Given the description of an element on the screen output the (x, y) to click on. 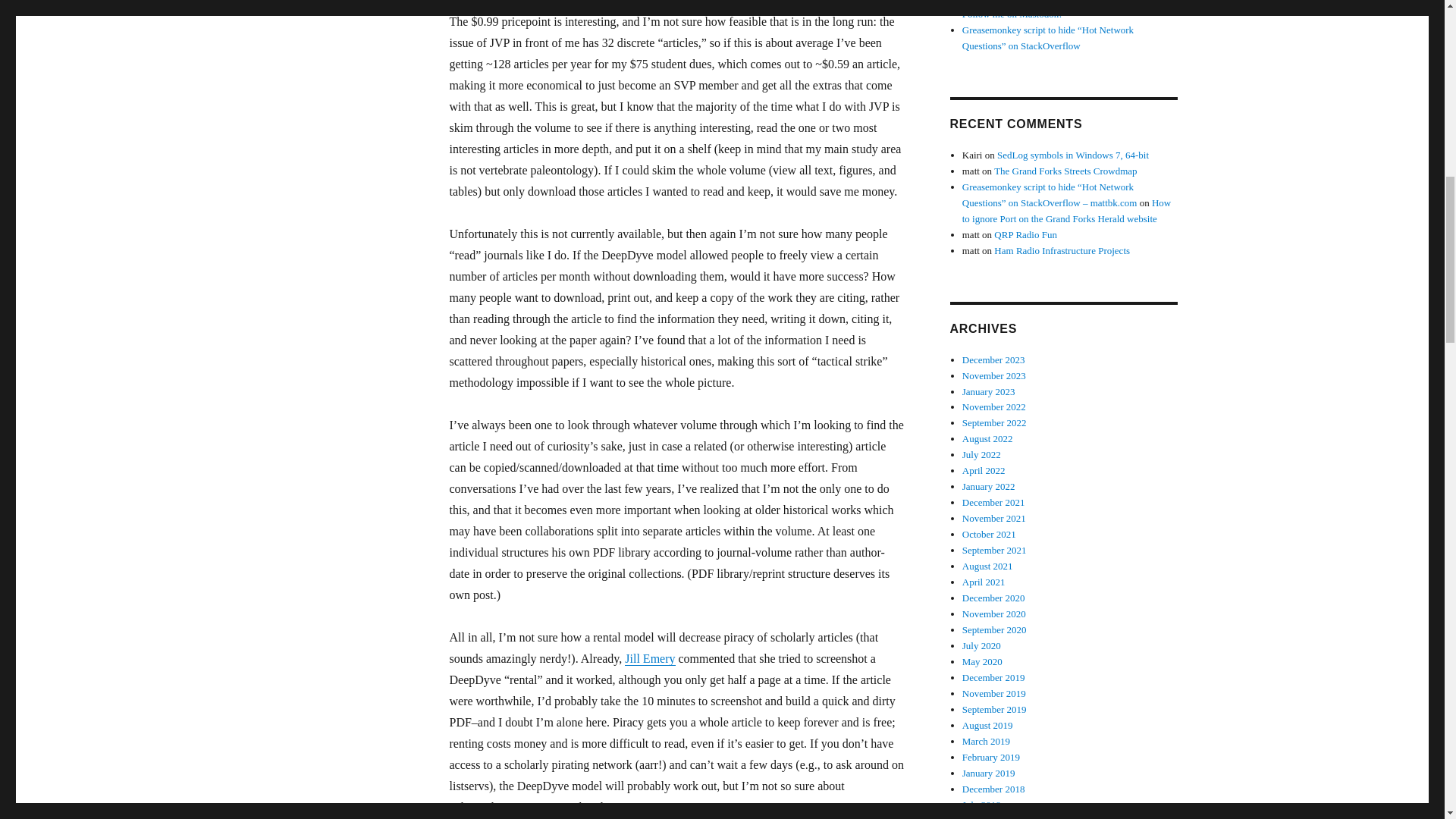
Jill Emery (649, 658)
